Given the description of an element on the screen output the (x, y) to click on. 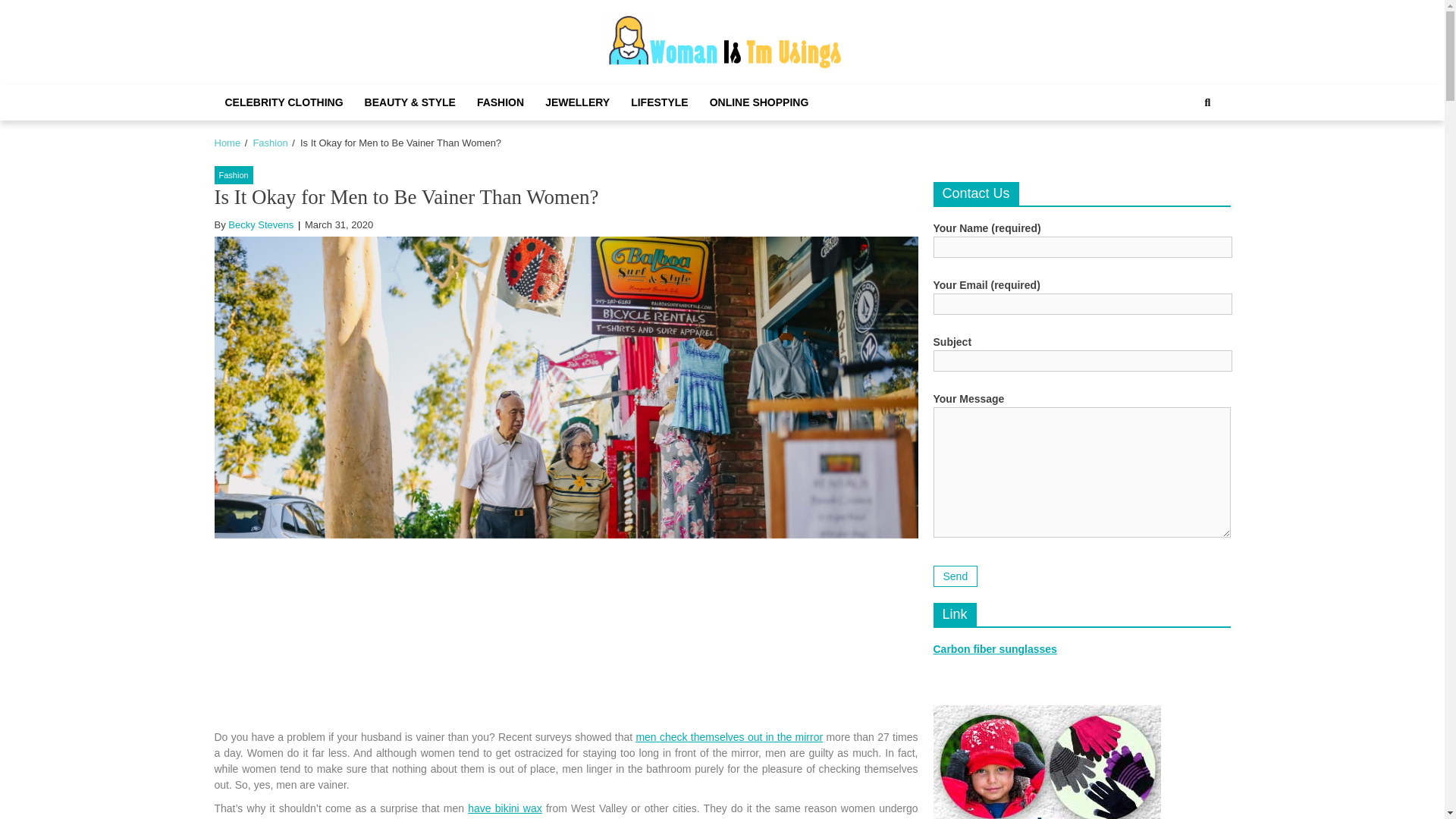
Fashion (268, 142)
LIFESTYLE (659, 102)
have bikini wax (504, 808)
ONLINE SHOPPING (758, 102)
CELEBRITY CLOTHING (283, 102)
FASHION (499, 102)
Becky Stevens (261, 224)
Carbon fiber sunglasses (995, 648)
Search (1207, 102)
Womanist Musings (734, 86)
Fashion (232, 175)
men check themselves out in the mirror (728, 736)
Send (954, 576)
Send (954, 576)
Search (1191, 153)
